Given the description of an element on the screen output the (x, y) to click on. 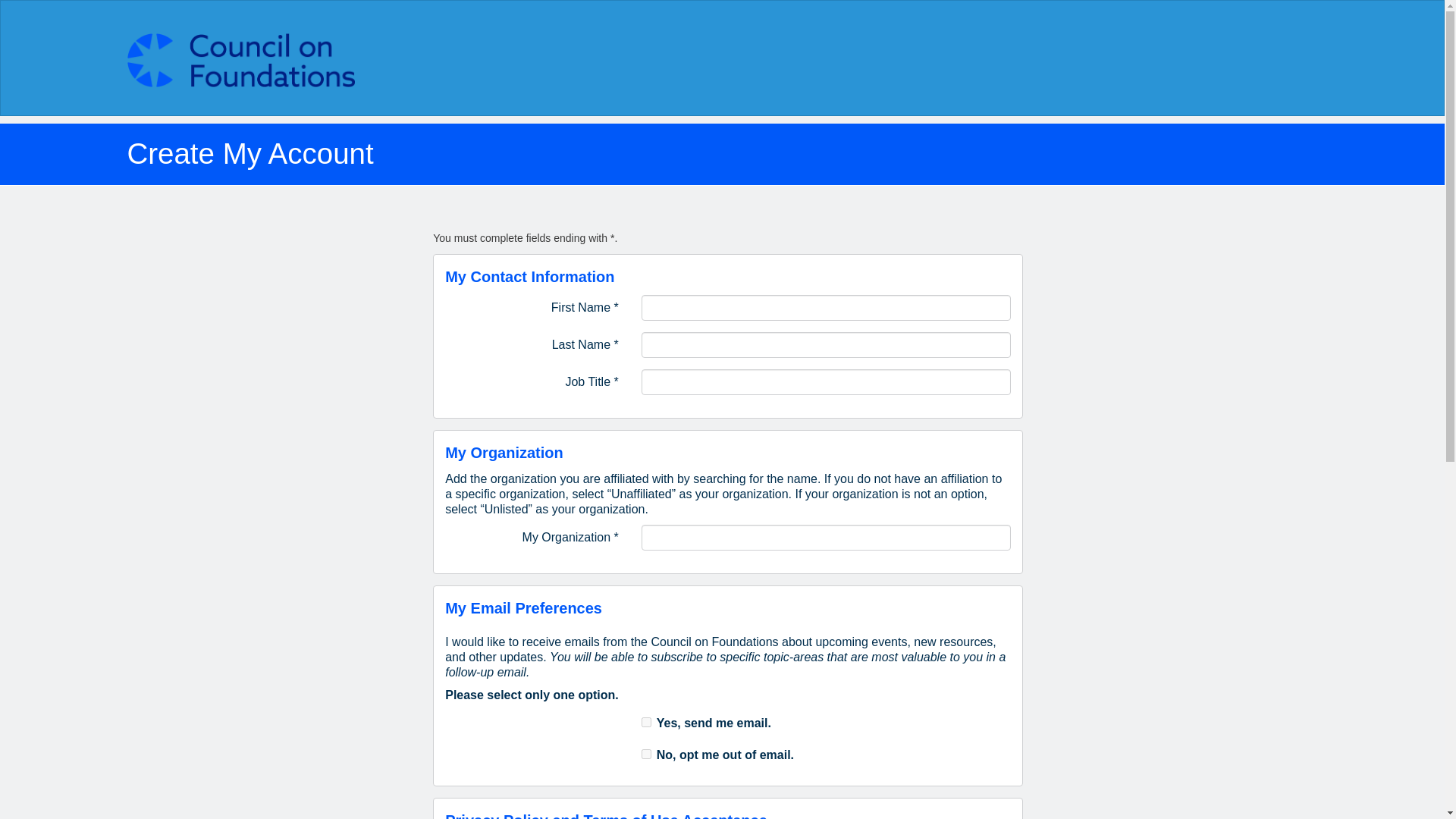
1 (646, 722)
1 (646, 754)
